Given the description of an element on the screen output the (x, y) to click on. 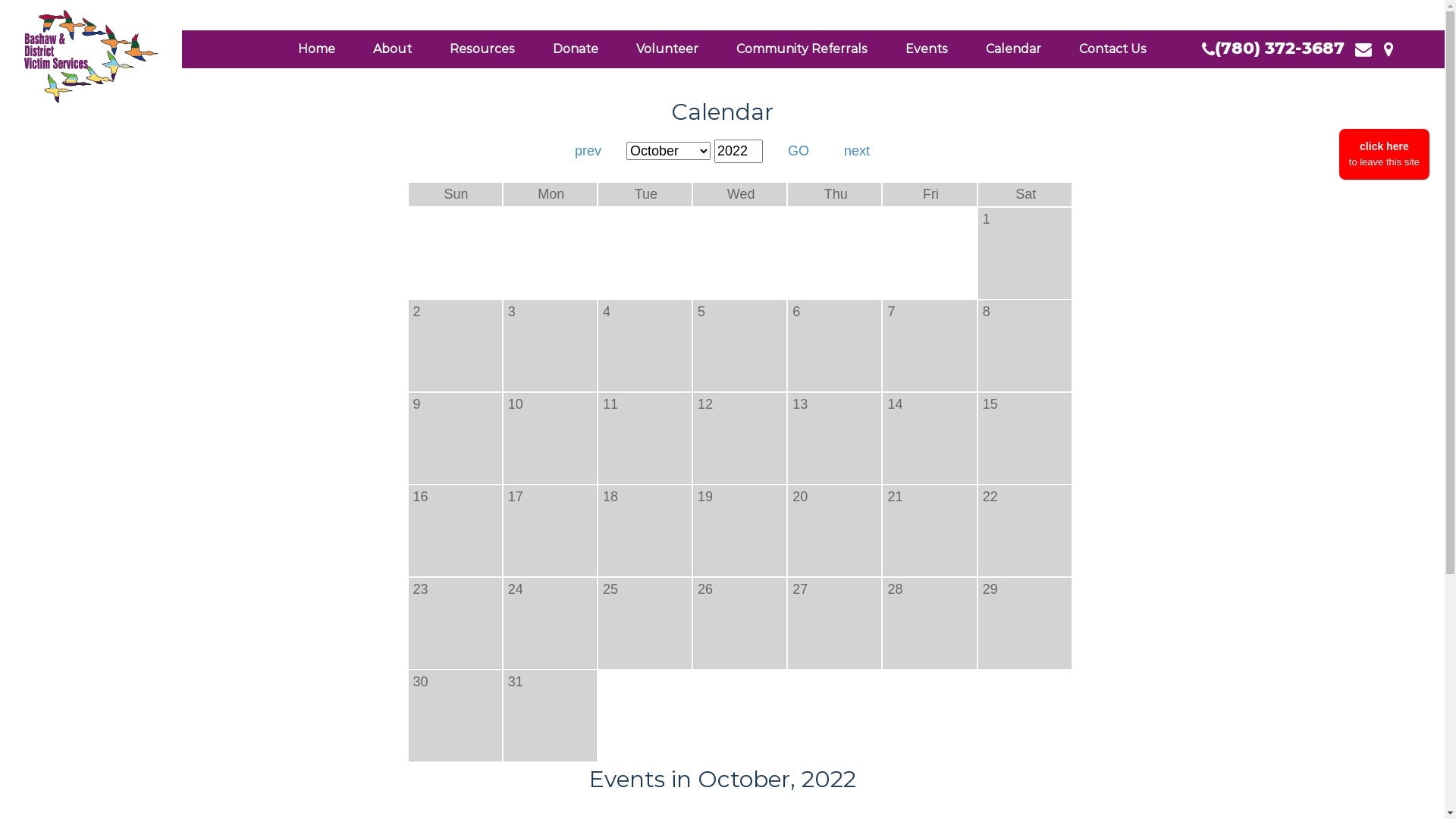
Resources Element type: text (481, 48)
Community Referrals Element type: text (801, 48)
Calendar Element type: text (1013, 48)
About Element type: text (392, 48)
Donate Element type: text (575, 48)
GO Element type: text (798, 151)
Contact Us Element type: text (1112, 48)
Volunteer Element type: text (667, 48)
(780) 372-3687 Element type: text (1272, 47)
prev Element type: text (587, 151)
Events Element type: text (926, 48)
click here
to leave this site Element type: text (1384, 153)
next Element type: text (856, 151)
Home Element type: text (316, 48)
